Given the description of an element on the screen output the (x, y) to click on. 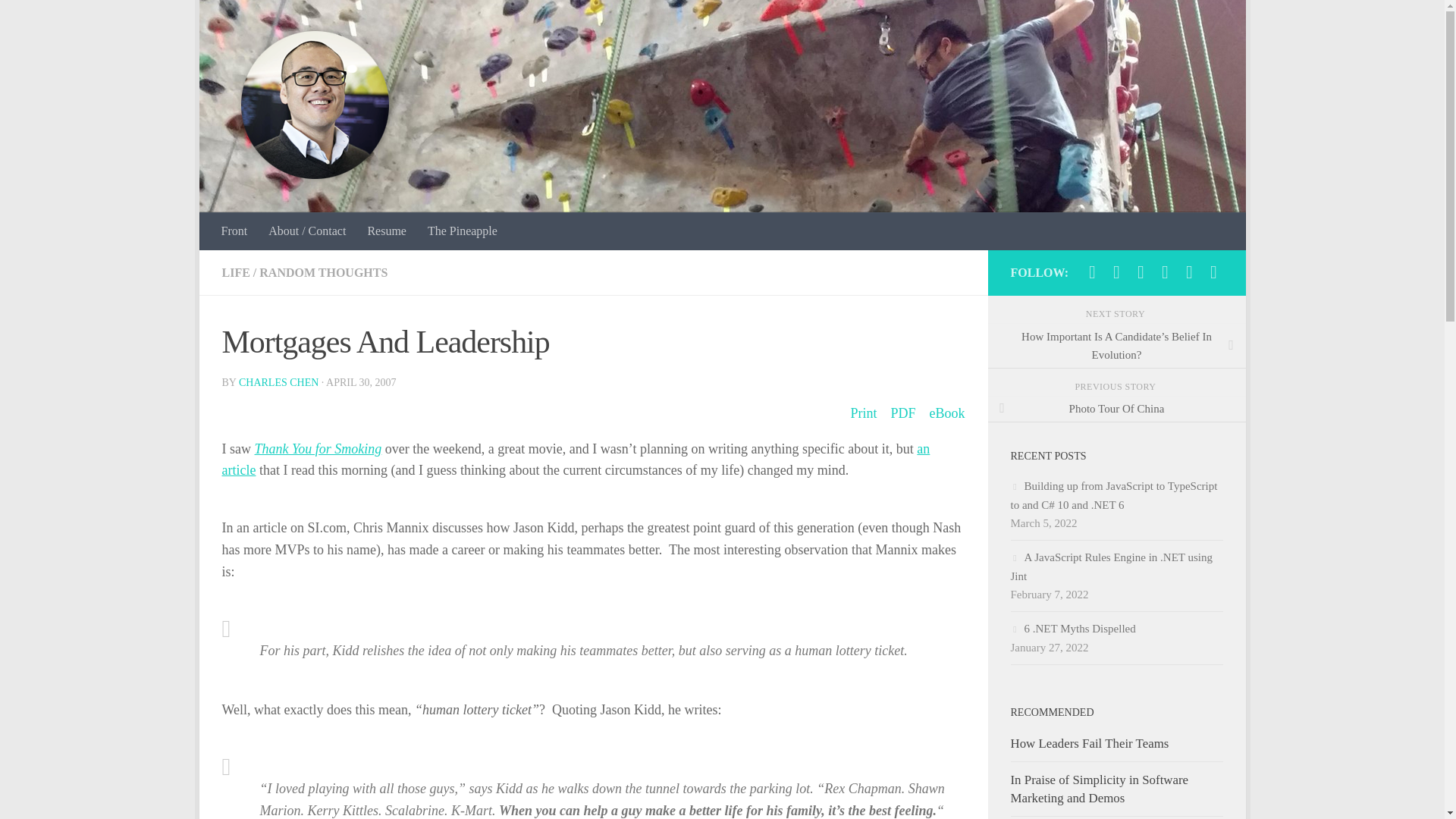
eBook (947, 413)
Prefer Medium instead? (1115, 271)
Print (863, 413)
RANDOM THOUGHTS (323, 272)
Youtube Videos (1164, 271)
PDF (902, 413)
LIFE (234, 272)
Posts by Charles Chen (278, 382)
Subscribe to RSS (1213, 271)
The Pineapple (462, 231)
